Given the description of an element on the screen output the (x, y) to click on. 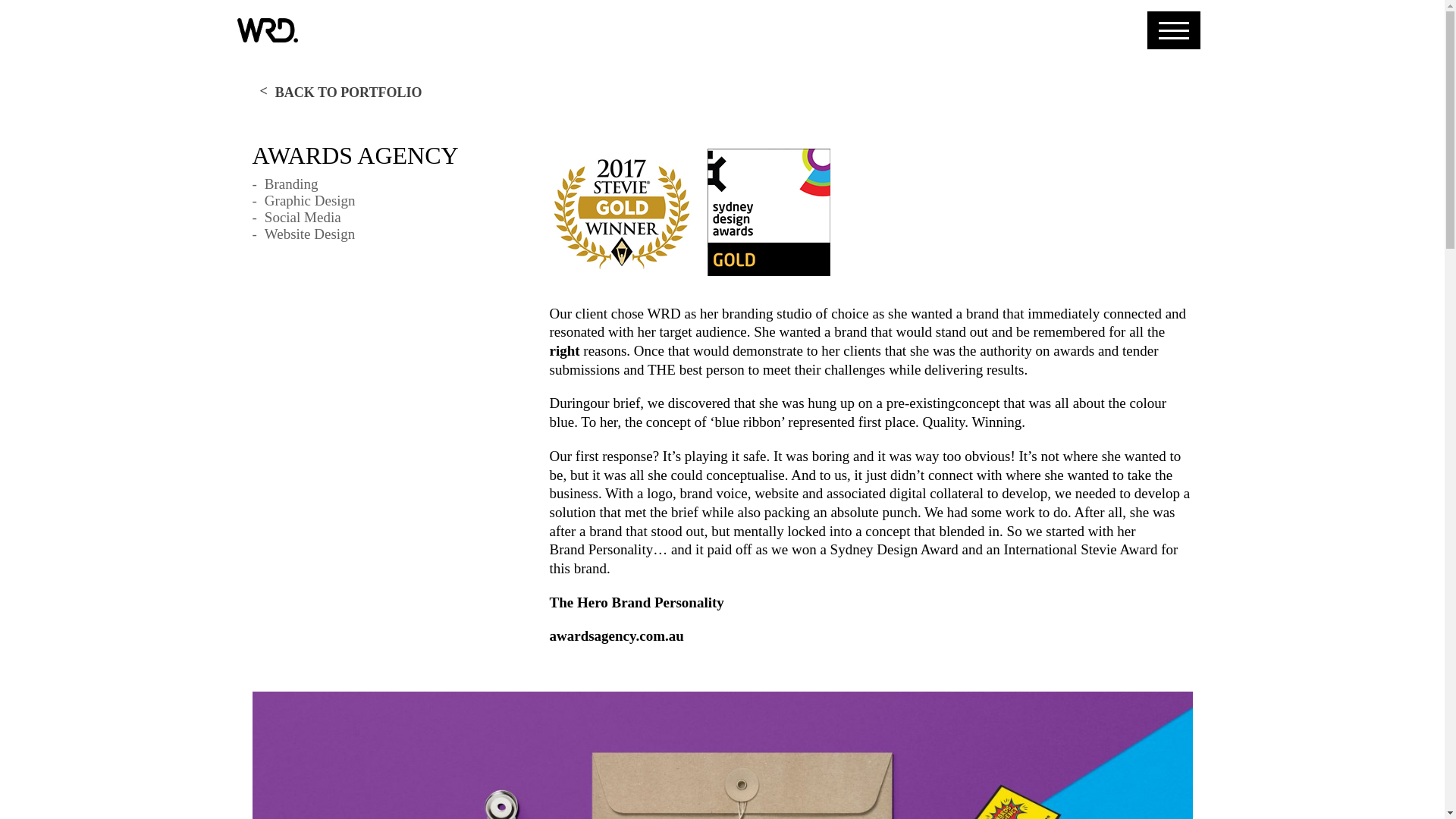
Opens in a new window (635, 602)
The Hero Brand Personality (635, 602)
BACK TO PORTFOLIO (339, 92)
Opens in a new window (600, 549)
Brand Personality (600, 549)
